Given the description of an element on the screen output the (x, y) to click on. 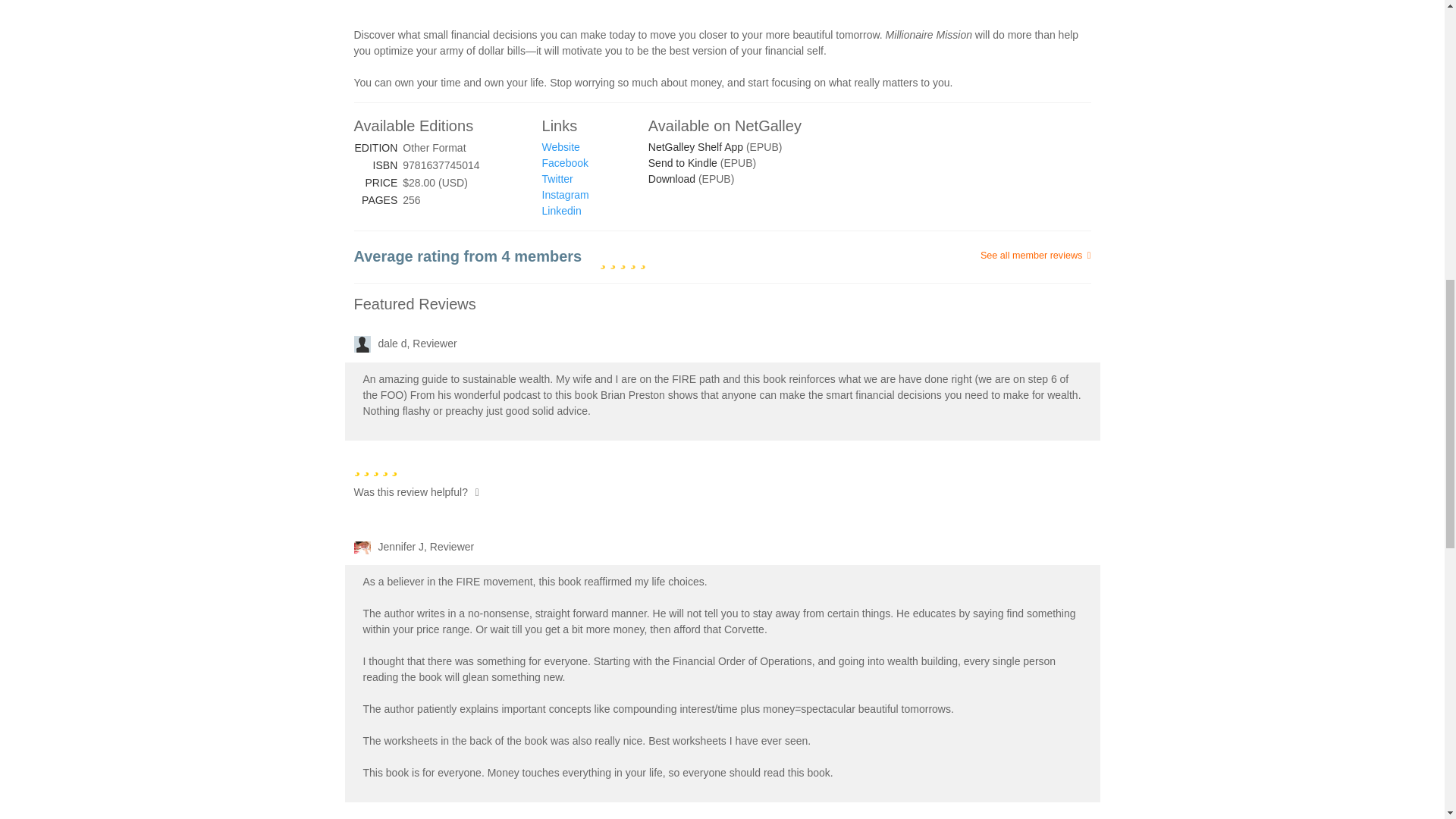
Website (560, 146)
Instagram (565, 194)
Twitter (557, 178)
Facebook (564, 162)
